Given the description of an element on the screen output the (x, y) to click on. 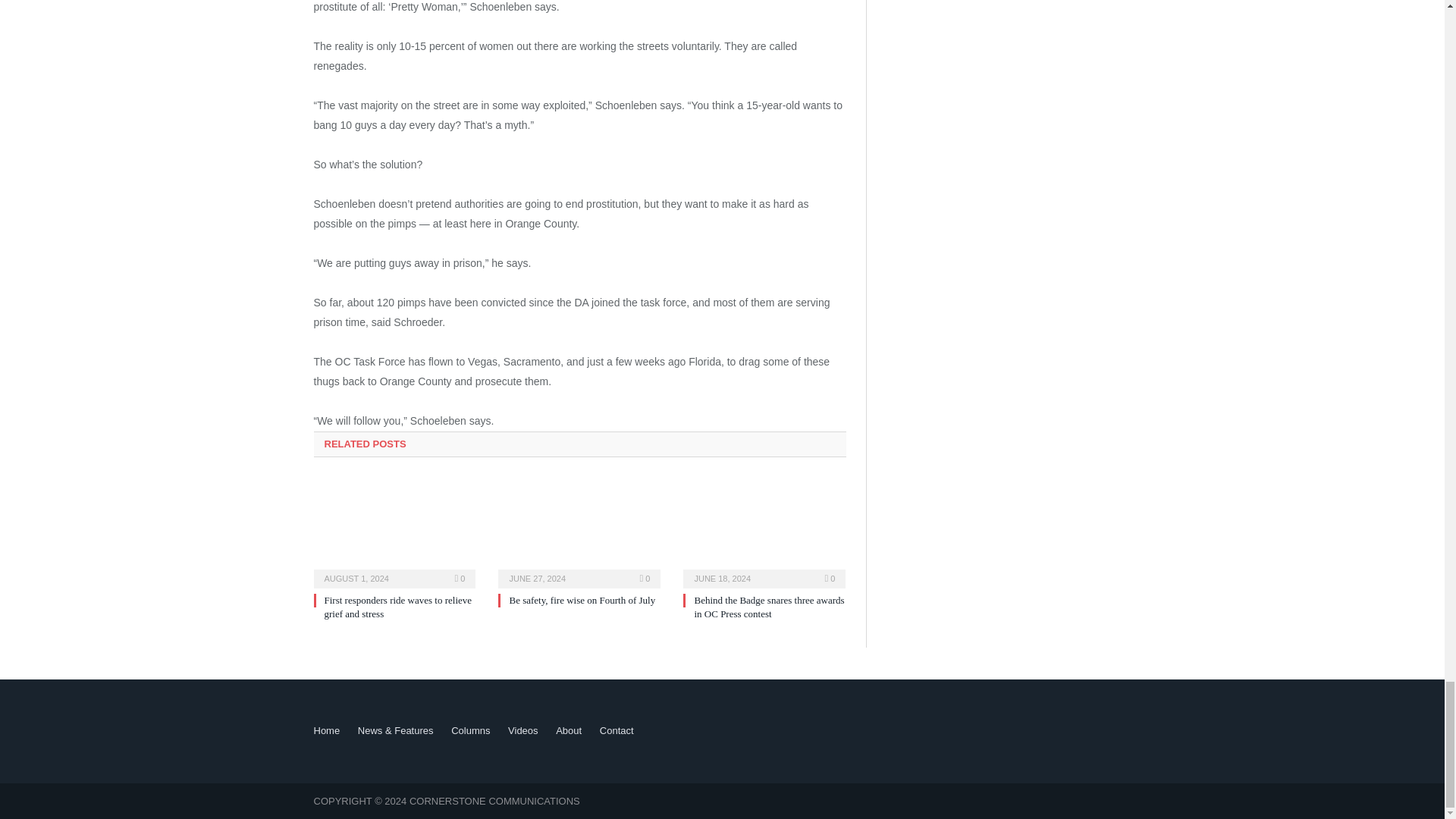
Be safety, fire wise on Fourth of July (581, 600)
Be safety, fire wise on Fourth of July (579, 531)
0 (645, 578)
0 (830, 578)
First responders ride waves to relieve grief and stress (397, 606)
Be safety, fire wise on Fourth of July (581, 600)
Behind the Badge snares three awards in OC Press contest (769, 606)
First responders ride waves to relieve grief and stress (395, 531)
0 (459, 578)
Behind the Badge snares three awards in OC Press contest (763, 531)
Behind the Badge snares three awards in OC Press contest (769, 606)
First responders ride waves to relieve grief and stress (397, 606)
